Given the description of an element on the screen output the (x, y) to click on. 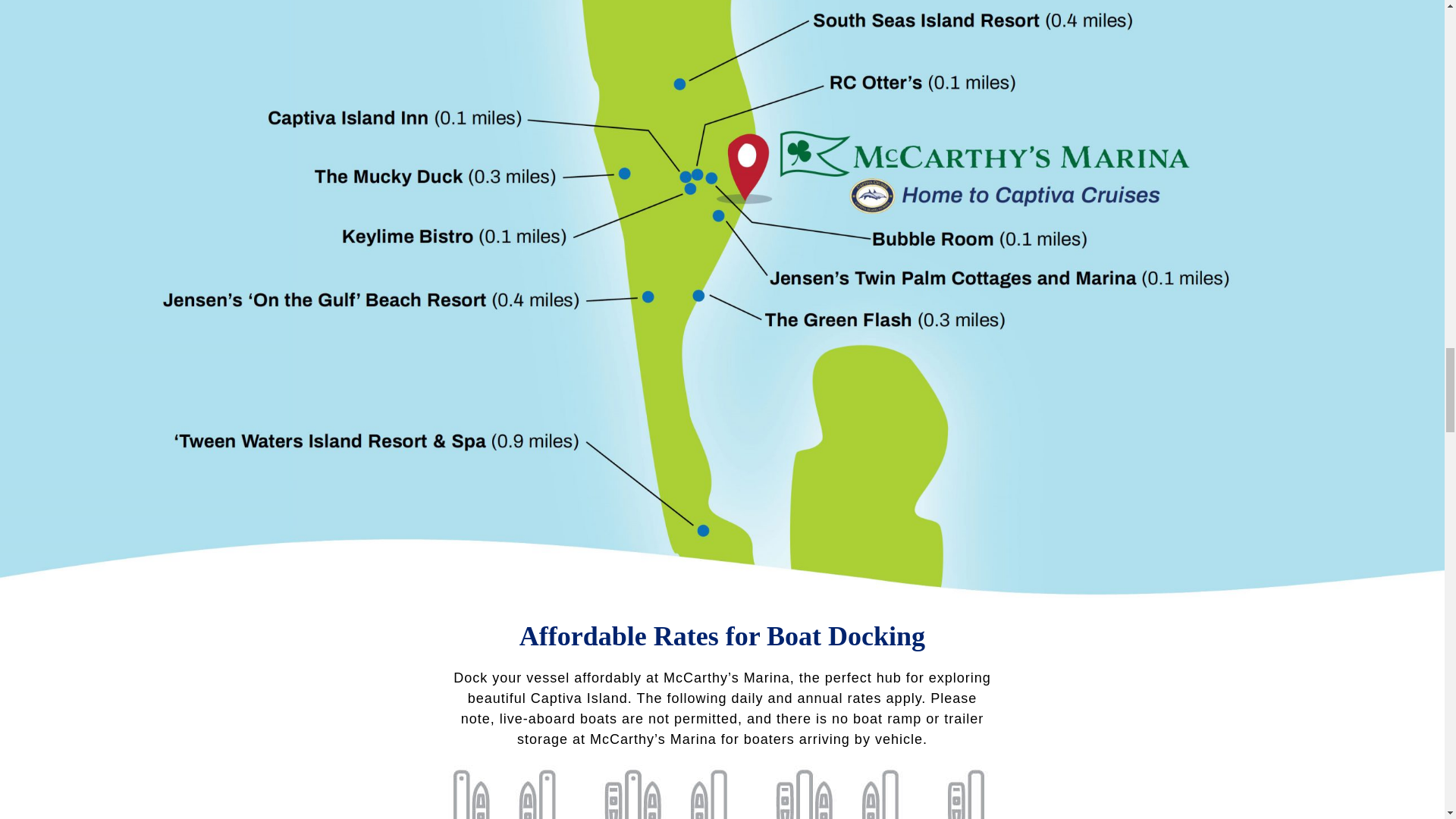
Blueprint-of-Boats-at-Dock (722, 791)
